Given the description of an element on the screen output the (x, y) to click on. 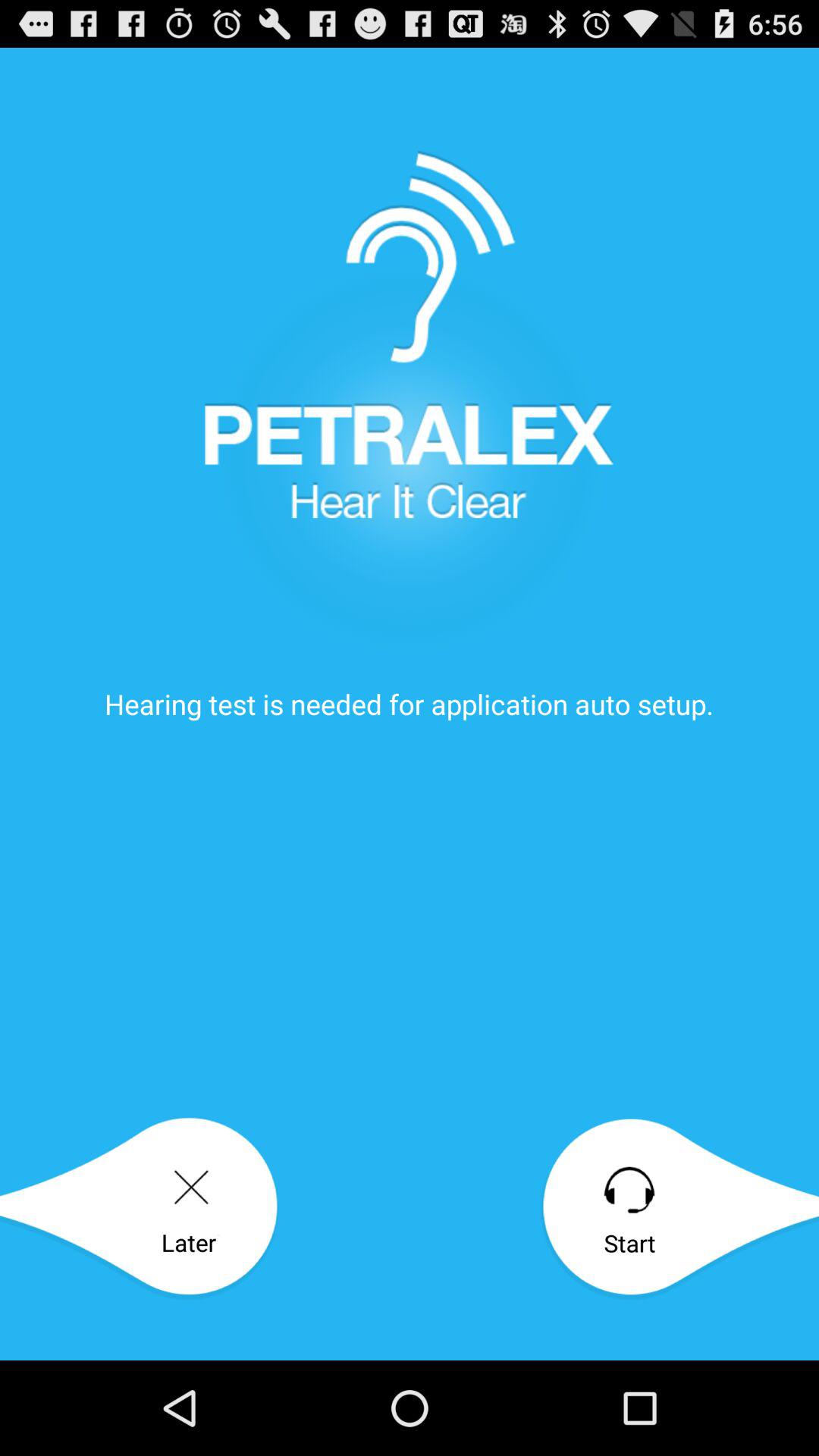
click start (679, 1208)
